Given the description of an element on the screen output the (x, y) to click on. 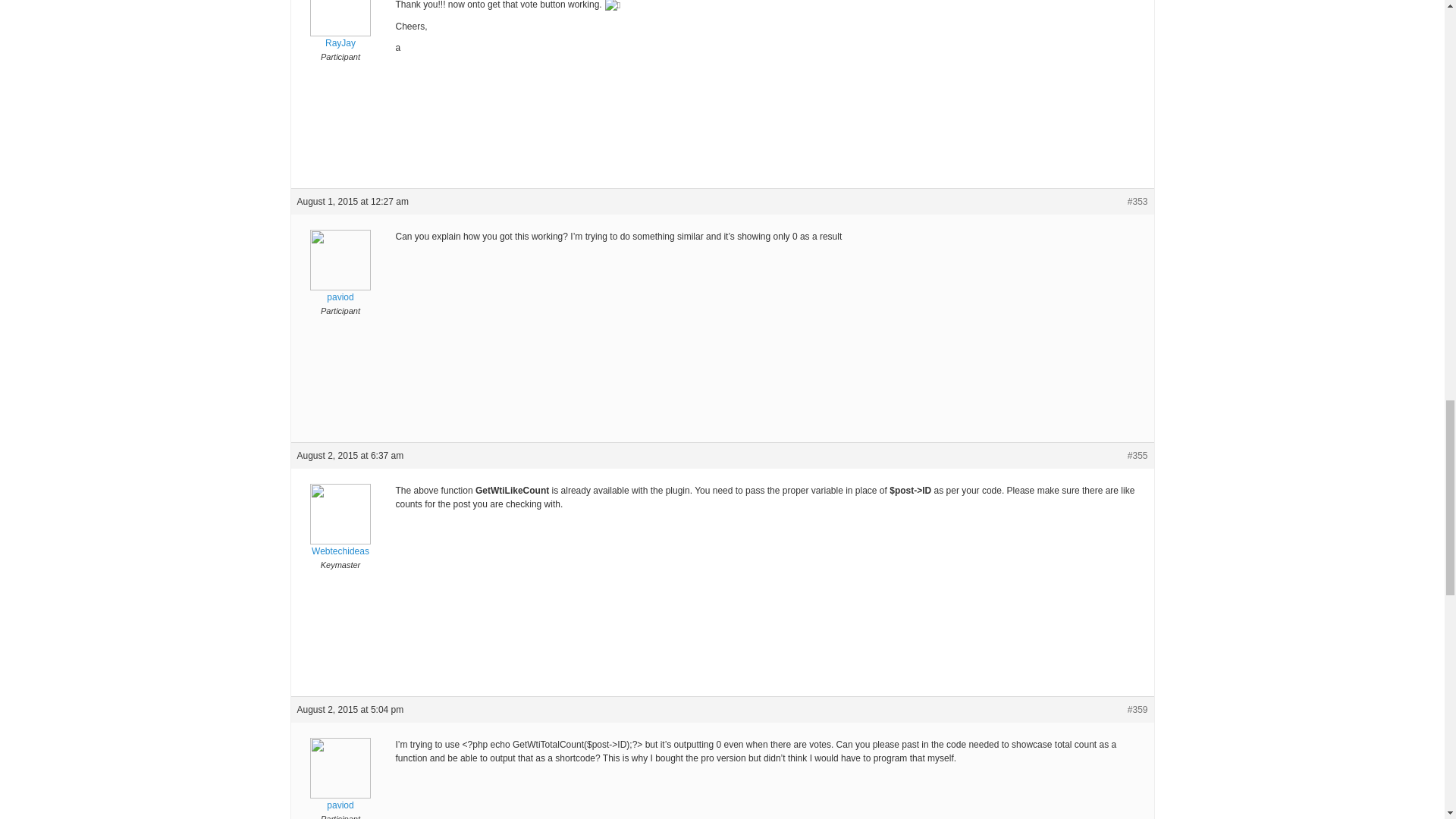
View paviod's profile (340, 277)
View RayJay's profile (340, 25)
RayJay (340, 25)
Webtechideas (340, 531)
View paviod's profile (340, 785)
paviod (340, 277)
View Webtechideas's profile (340, 531)
